Given the description of an element on the screen output the (x, y) to click on. 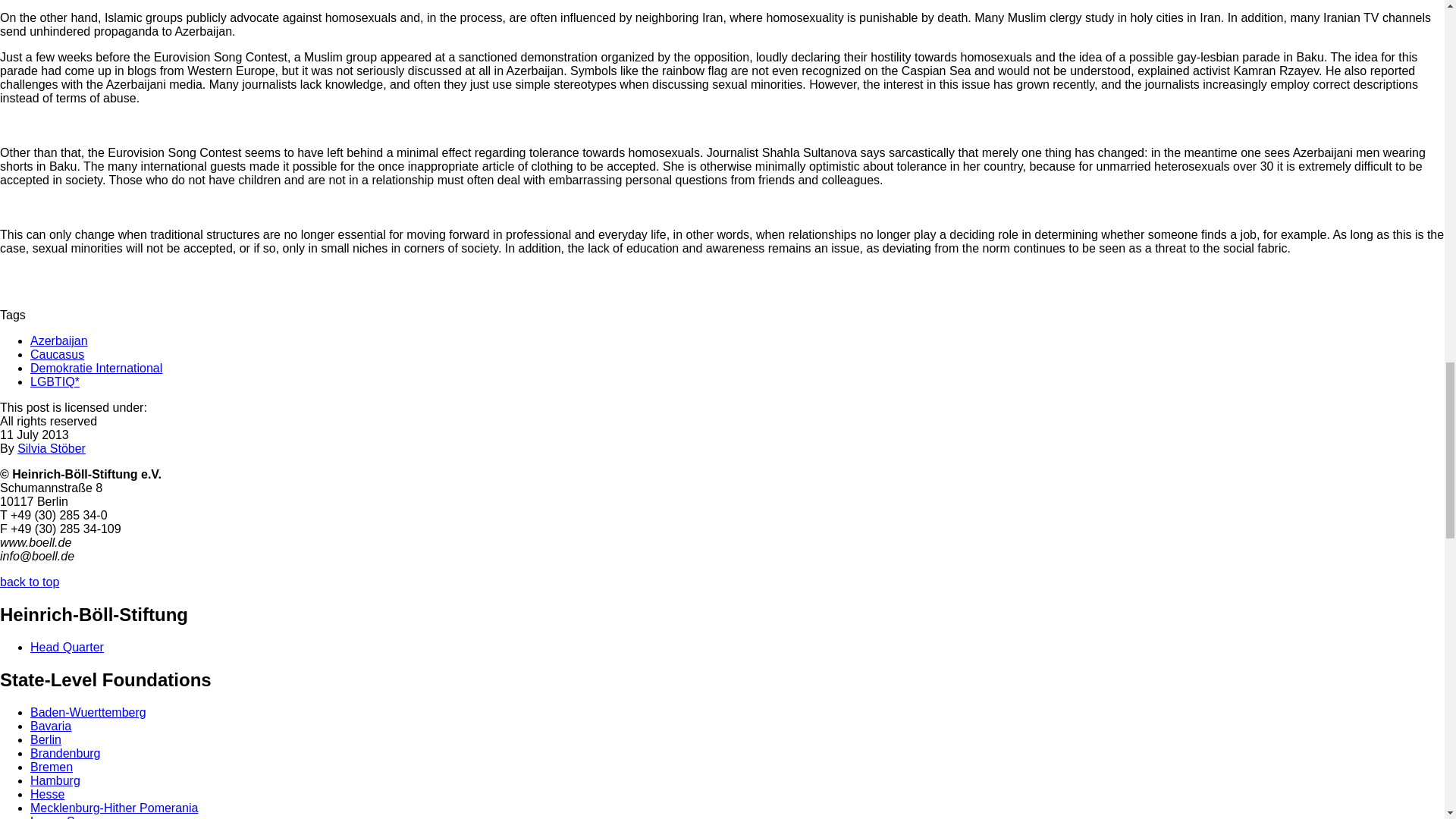
Hamburg (55, 780)
Hesse (47, 793)
Bavaria (50, 725)
Caucasus (57, 354)
back to top (29, 581)
Azerbaijan (58, 340)
Baden-Wuerttemberg (88, 712)
Brandenburg (65, 753)
Berlin (45, 739)
Head Quarter (66, 646)
